Given the description of an element on the screen output the (x, y) to click on. 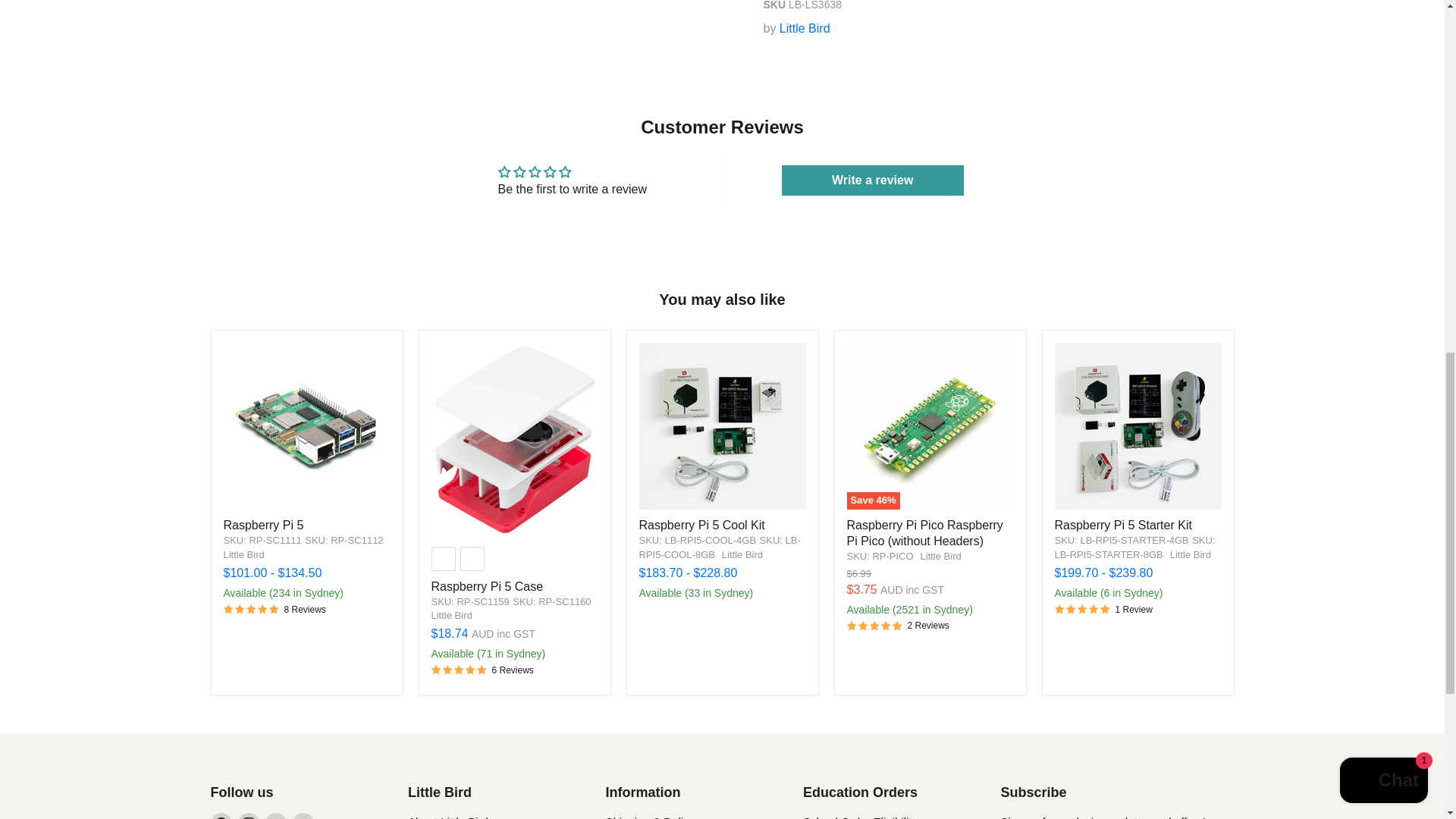
Little Bird (940, 555)
Little Bird (450, 614)
Little Bird (803, 28)
Twitter (275, 816)
Little Bird (742, 554)
YouTube (303, 816)
Facebook (221, 816)
Instagram (248, 816)
Little Bird (1190, 554)
Little Bird (242, 554)
